Given the description of an element on the screen output the (x, y) to click on. 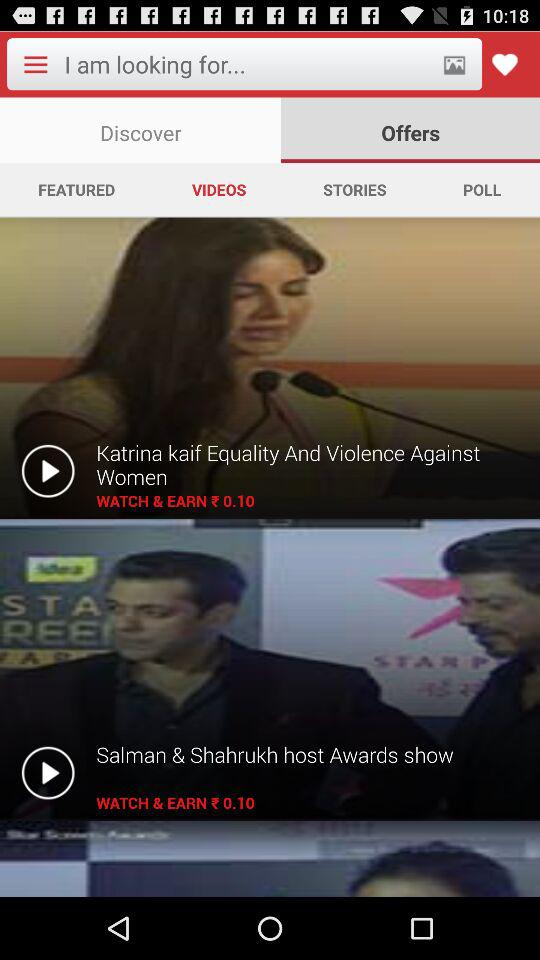
menu (35, 64)
